Given the description of an element on the screen output the (x, y) to click on. 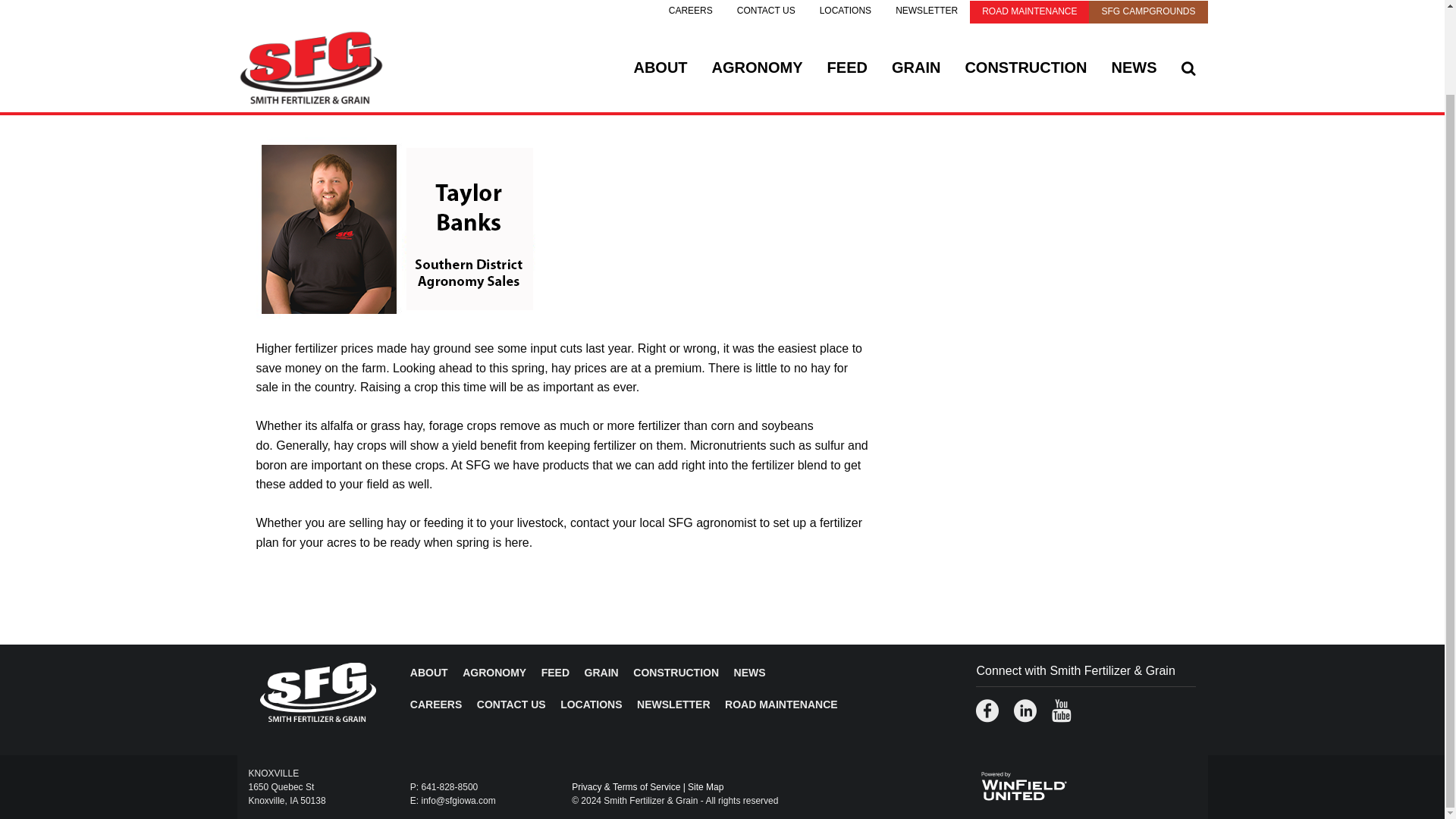
feed (555, 672)
road-maintenance (781, 704)
winfield (1022, 784)
newsletter (673, 704)
careers (435, 704)
about (429, 672)
locations (590, 704)
site-map (705, 787)
construction (676, 672)
contact-us (511, 704)
